Given the description of an element on the screen output the (x, y) to click on. 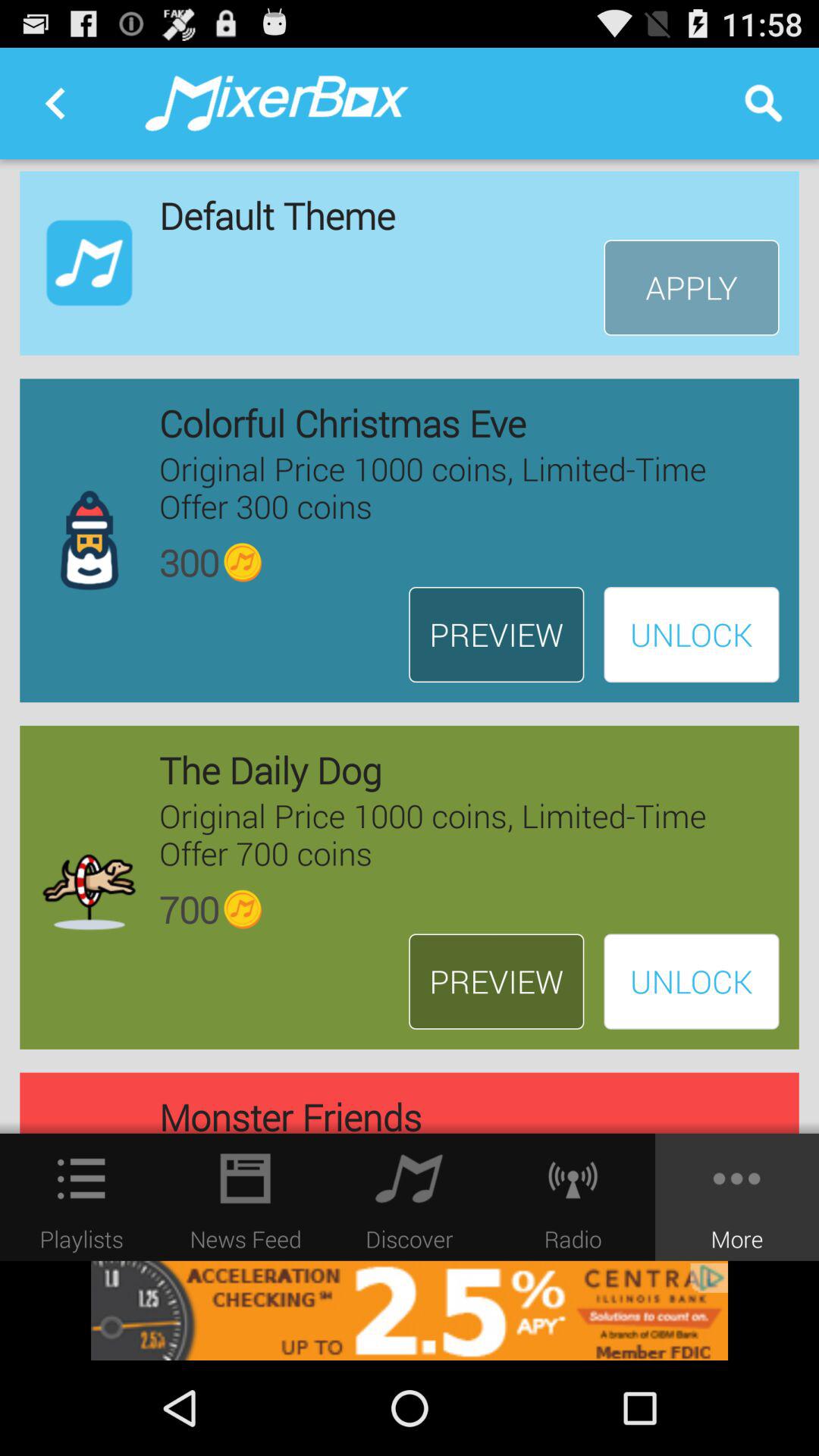
advertising (409, 1310)
